Given the description of an element on the screen output the (x, y) to click on. 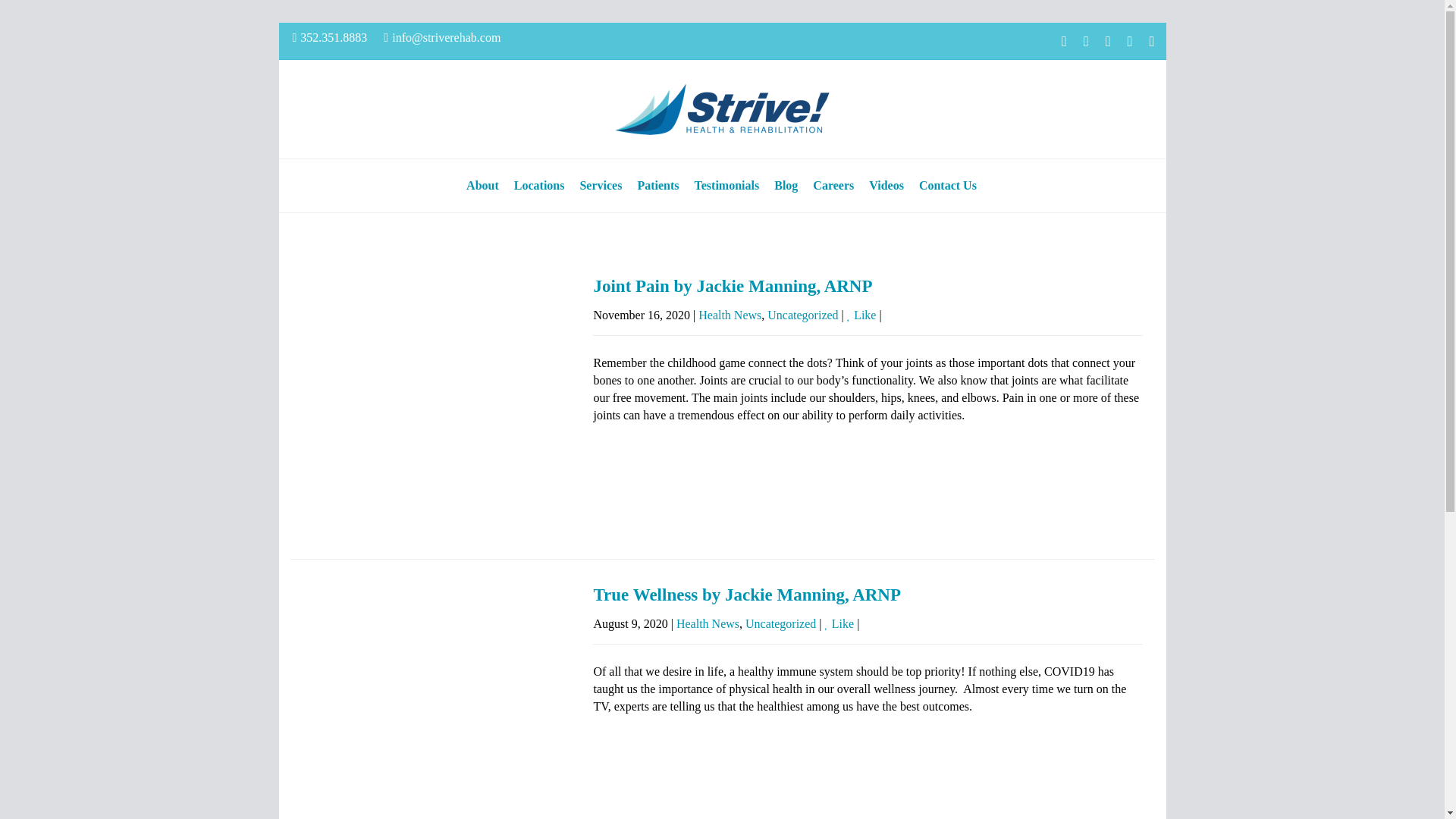
Testimonials (726, 185)
352.351.8883 (330, 37)
Contact Us (947, 185)
Strive! Physical Therapy Centers (721, 108)
Careers (833, 185)
Services (600, 185)
Patients (657, 185)
Locations (539, 185)
